Given the description of an element on the screen output the (x, y) to click on. 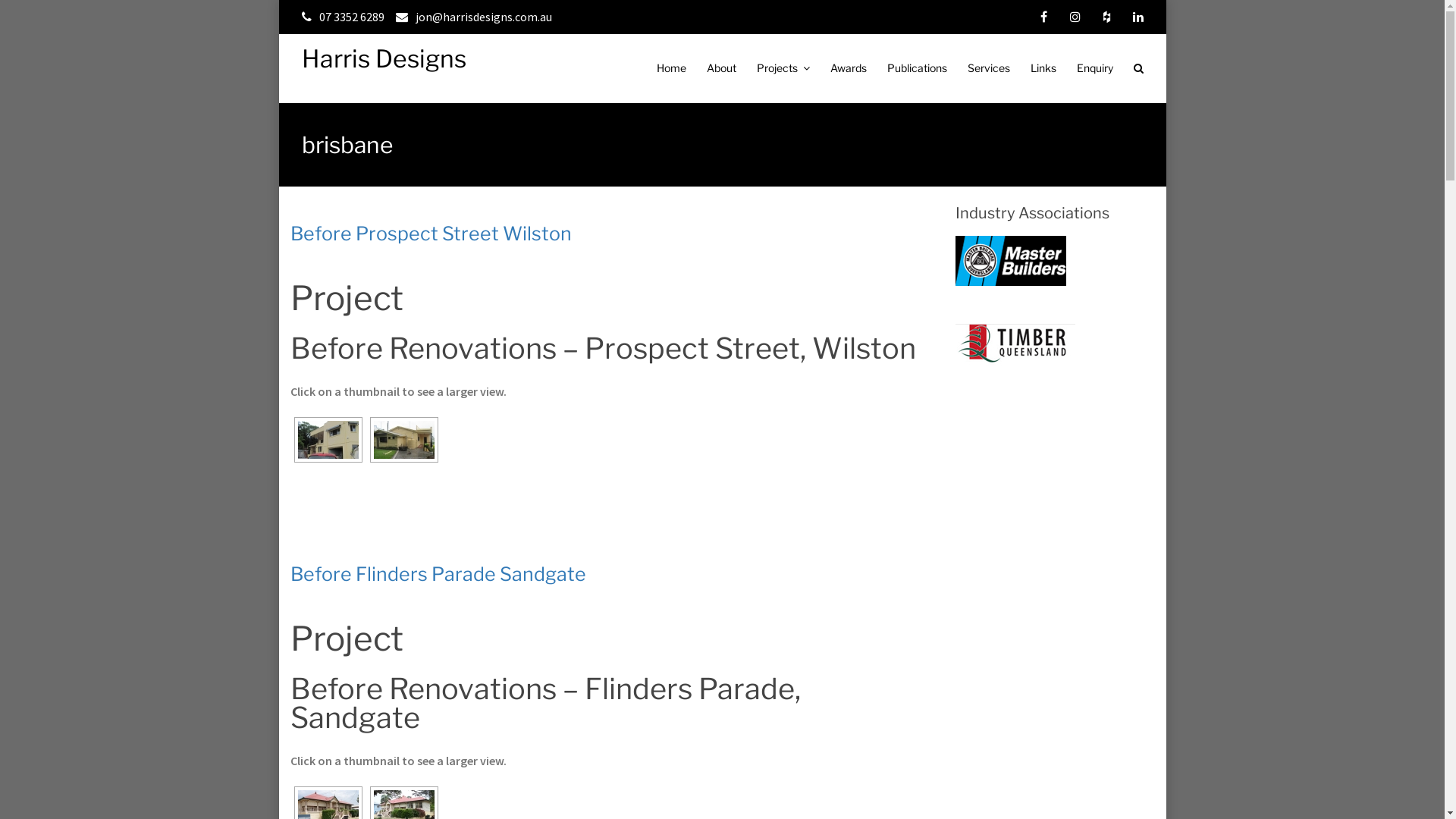
exist-1 Element type: hover (327, 439)
Home Element type: text (671, 68)
Services Element type: text (988, 68)
About Element type: text (721, 68)
Before Flinders Parade Sandgate Element type: text (437, 573)
jon@harrisdesigns.com.au Element type: text (479, 16)
Publications Element type: text (917, 68)
Awards Element type: text (847, 68)
Before Prospect Street Wilston Element type: text (430, 233)
Projects Element type: text (782, 68)
exist-2 Element type: hover (403, 439)
Links Element type: text (1042, 68)
Enquiry Element type: text (1094, 68)
Harris Designs Element type: text (383, 58)
